Given the description of an element on the screen output the (x, y) to click on. 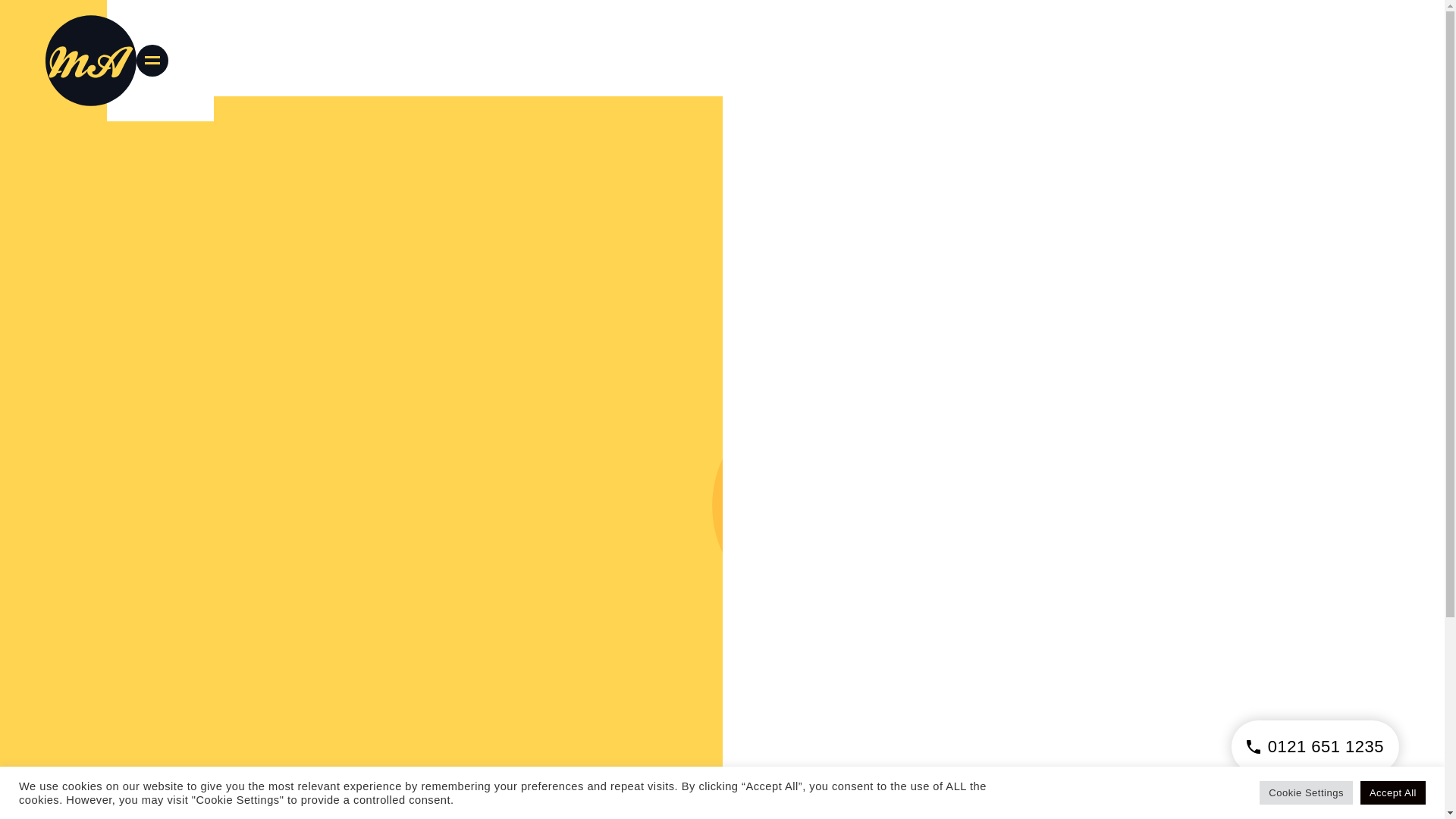
Cookie Settings (1305, 792)
0121 651 1235 (1315, 746)
Accept All (1392, 792)
